Given the description of an element on the screen output the (x, y) to click on. 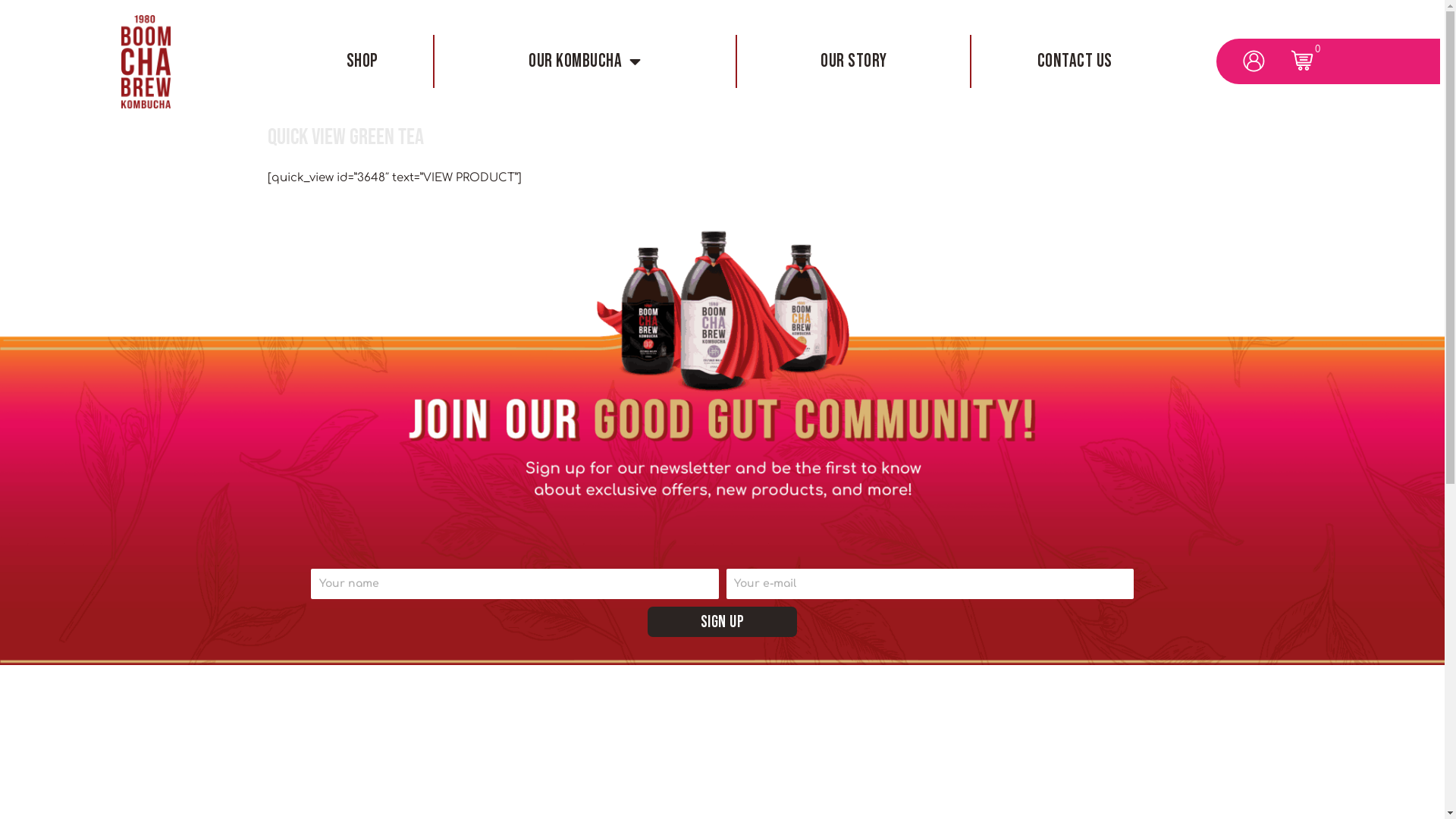
OUR KOMBUCHA Element type: text (584, 61)
OUR STORY Element type: text (853, 60)
SIGN UP Element type: text (722, 621)
SHOP Element type: text (362, 60)
CONTACT US Element type: text (1074, 60)
